Given the description of an element on the screen output the (x, y) to click on. 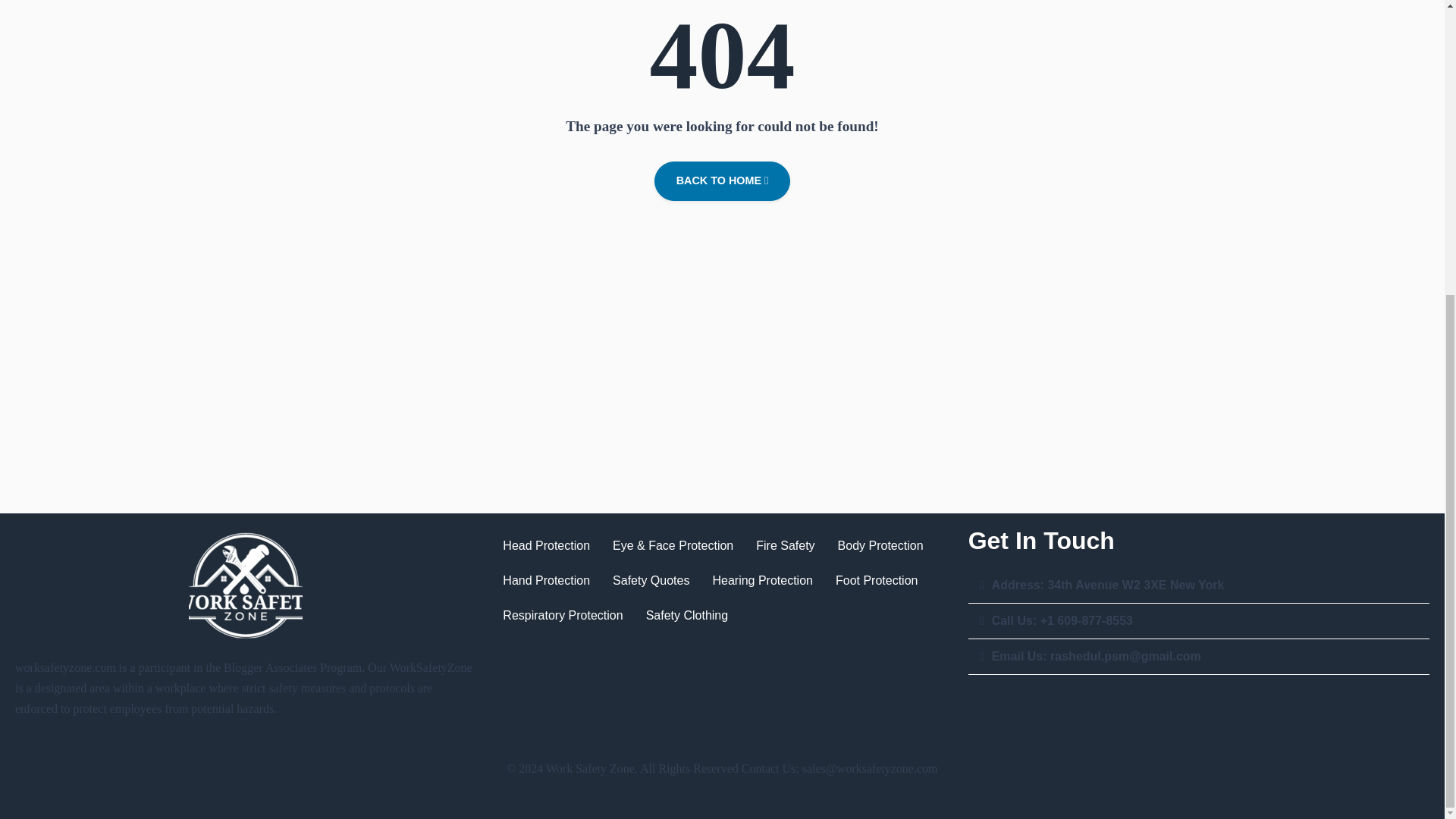
Safety Quotes (650, 580)
Foot Protection (877, 580)
Head Protection (546, 545)
Body Protection (880, 545)
Address: 34th Avenue W2 3XE New York (1107, 584)
Hearing Protection (762, 580)
BACK TO HOME (721, 180)
Respiratory Protection (562, 615)
Fire Safety (784, 545)
Safety Clothing (686, 615)
